Given the description of an element on the screen output the (x, y) to click on. 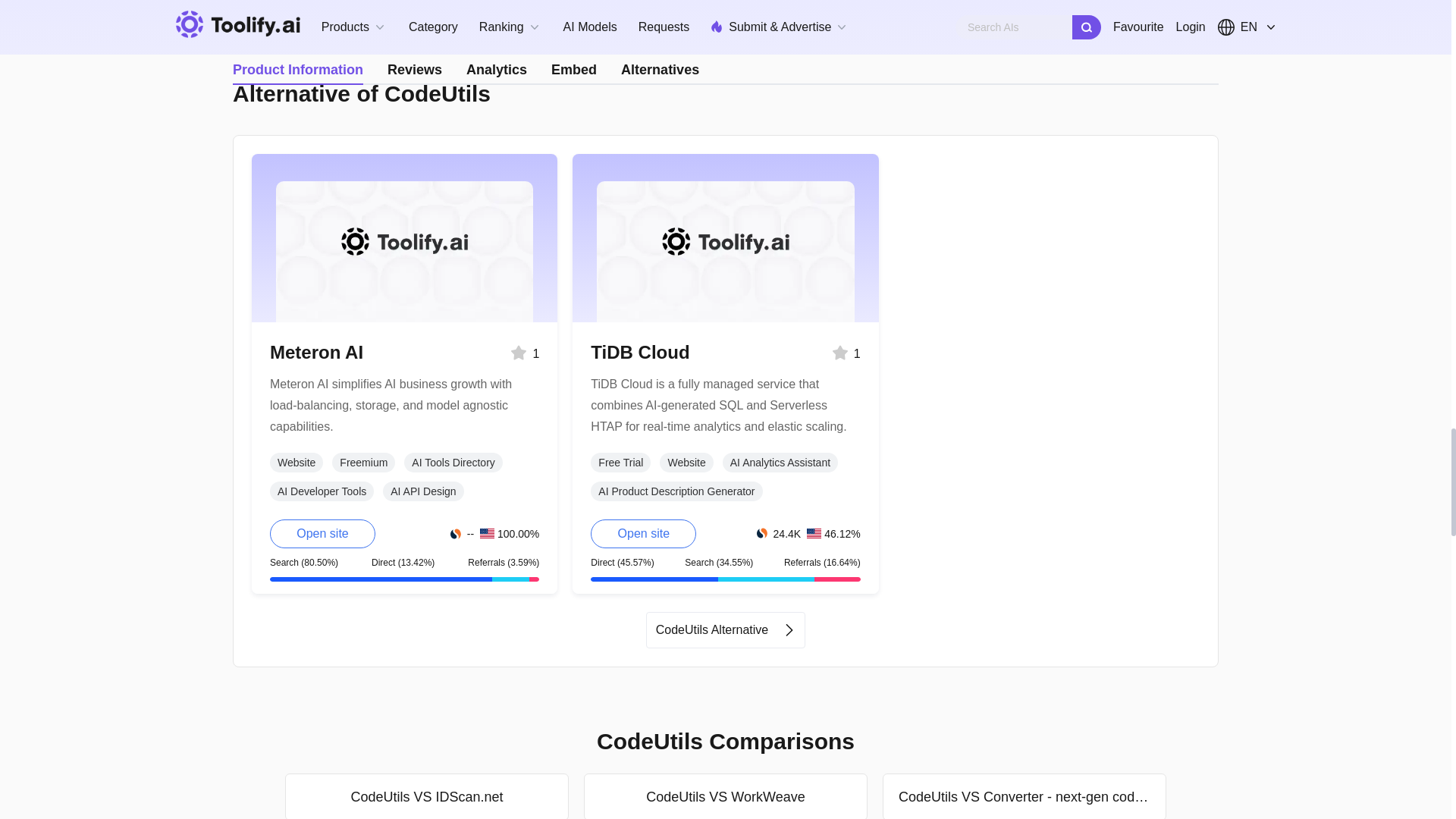
Monthly Visits (779, 533)
TiDB Cloud (639, 352)
Meteron AI (315, 352)
Monthly Visits (461, 533)
